Given the description of an element on the screen output the (x, y) to click on. 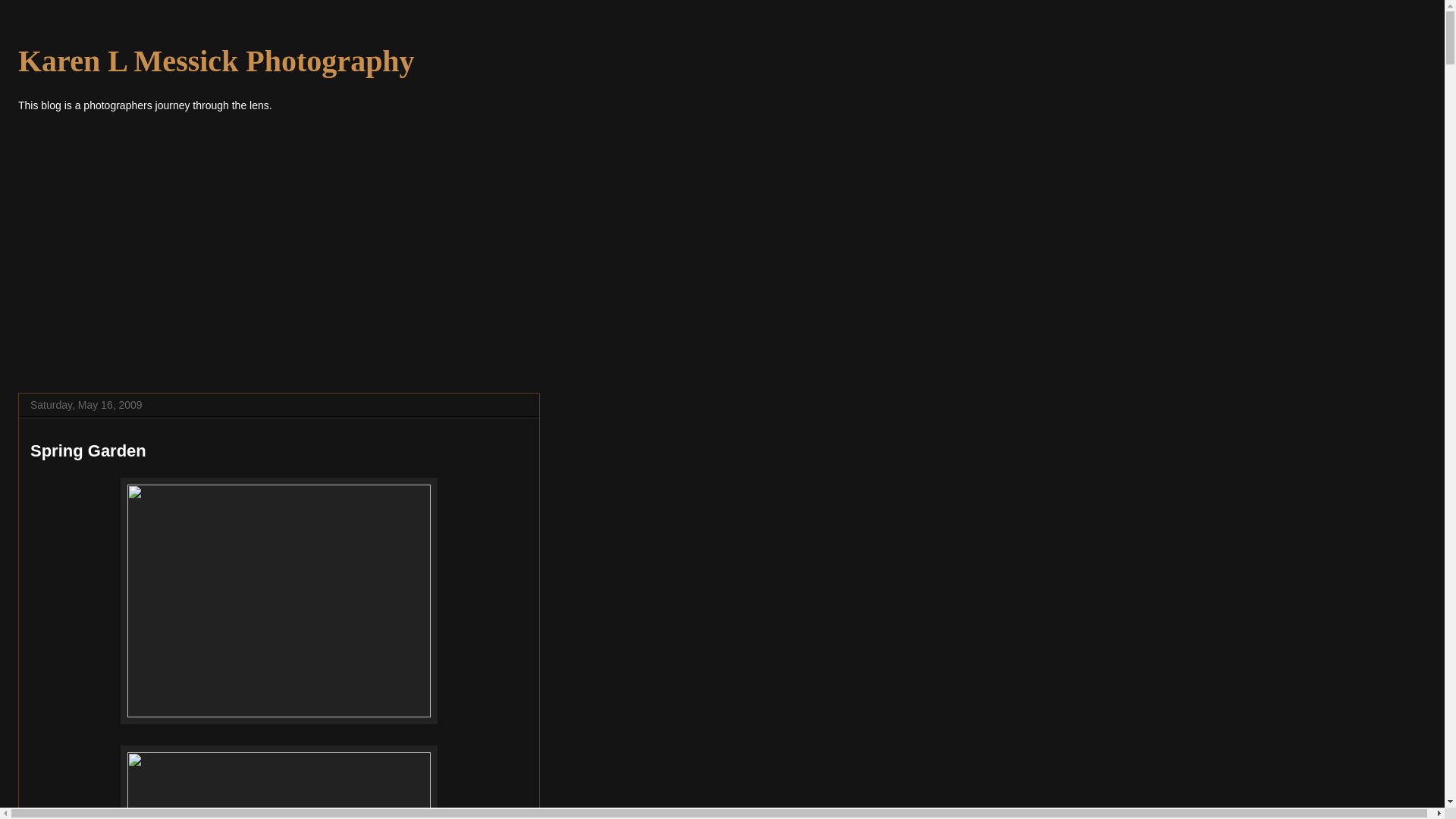
Karen L Messick Photography (215, 60)
